Given the description of an element on the screen output the (x, y) to click on. 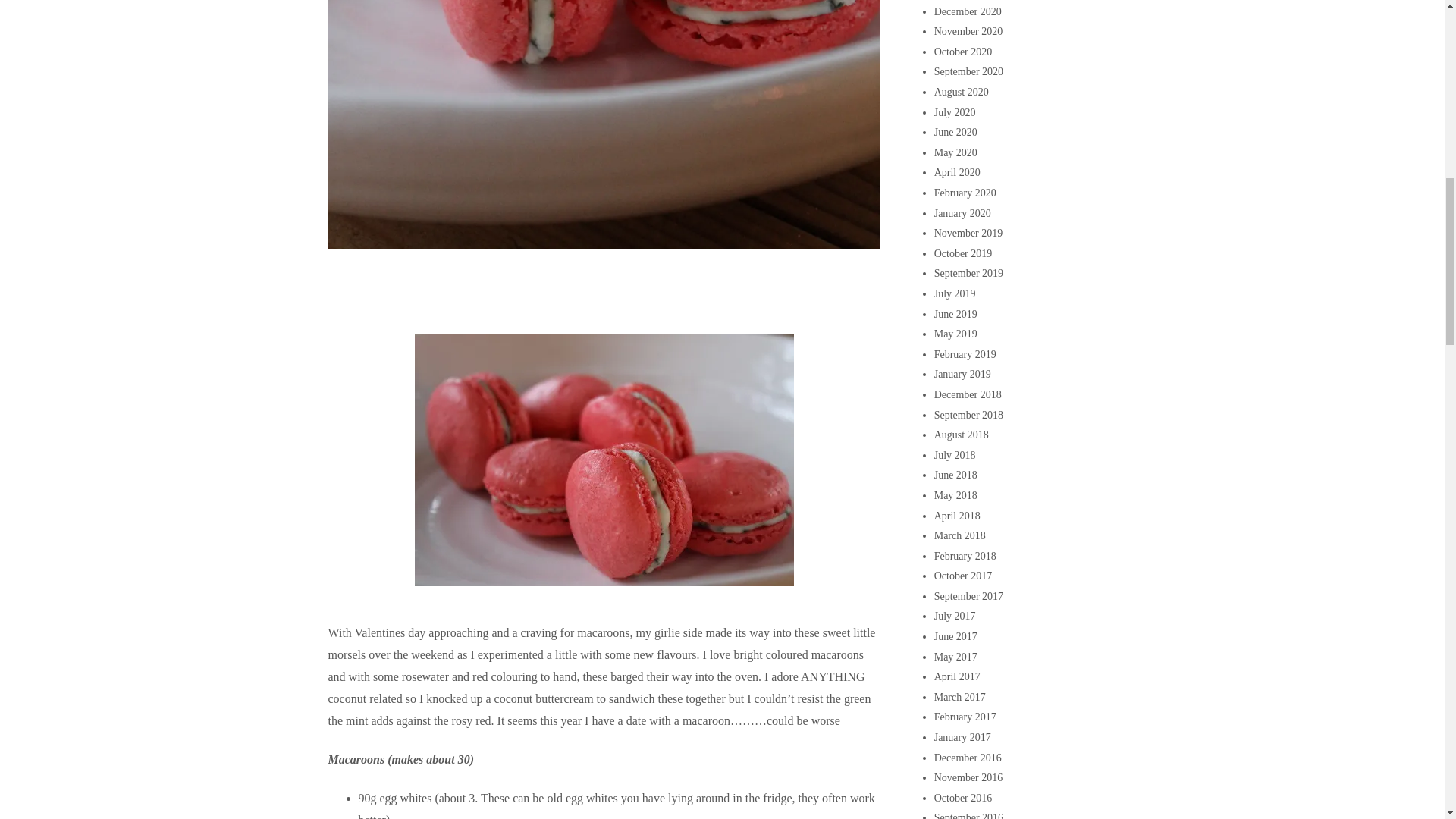
October 2020 (963, 51)
December 2020 (967, 11)
November 2020 (968, 30)
